Given the description of an element on the screen output the (x, y) to click on. 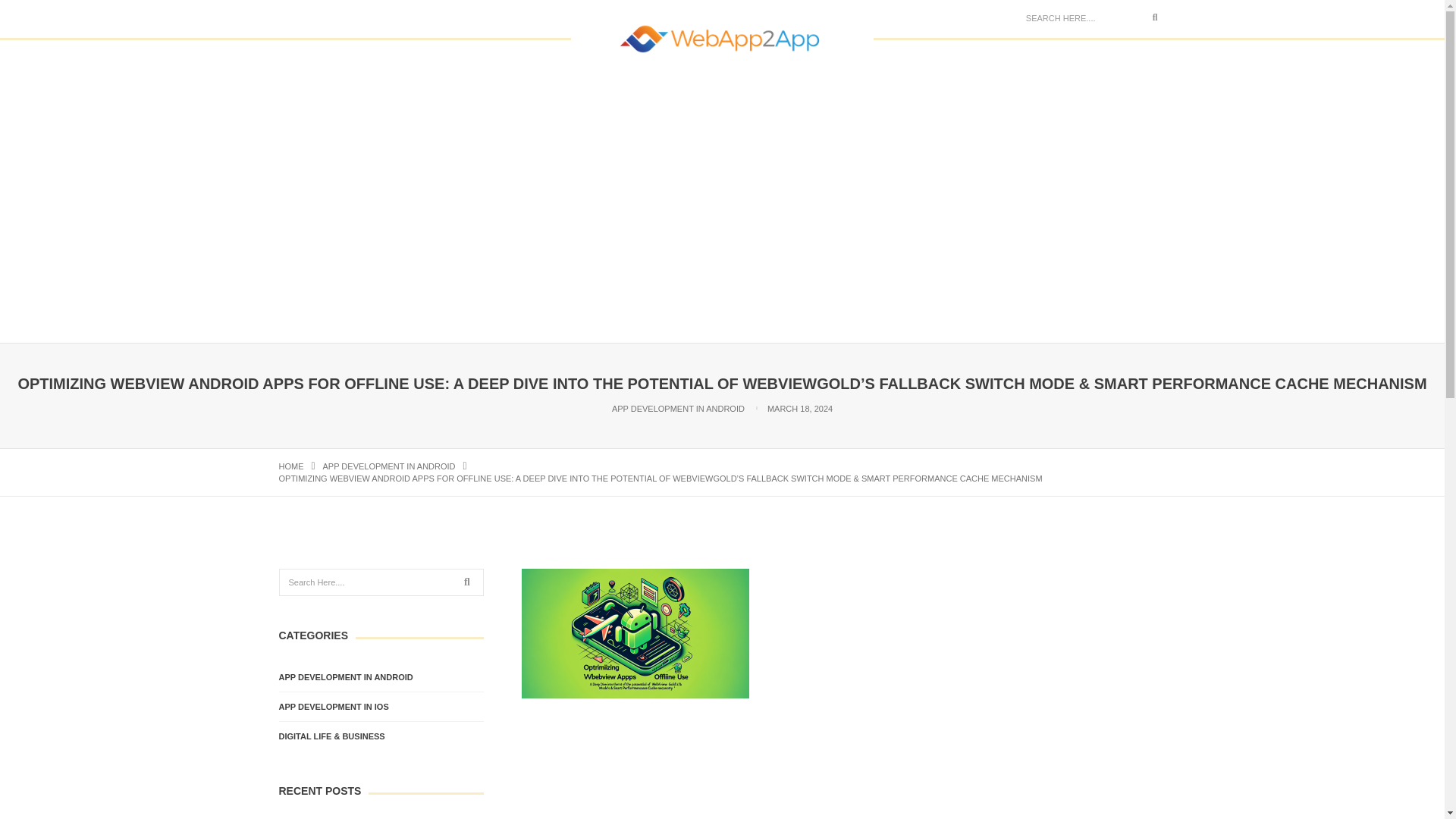
APP DEVELOPMENT IN ANDROID (389, 465)
APP DEVELOPMENT IN ANDROID (346, 676)
APP DEVELOPMENT IN ANDROID (677, 408)
HOME (291, 465)
App Development in Android (389, 465)
APP DEVELOPMENT IN IOS (333, 706)
Browse to: Home (291, 465)
